Given the description of an element on the screen output the (x, y) to click on. 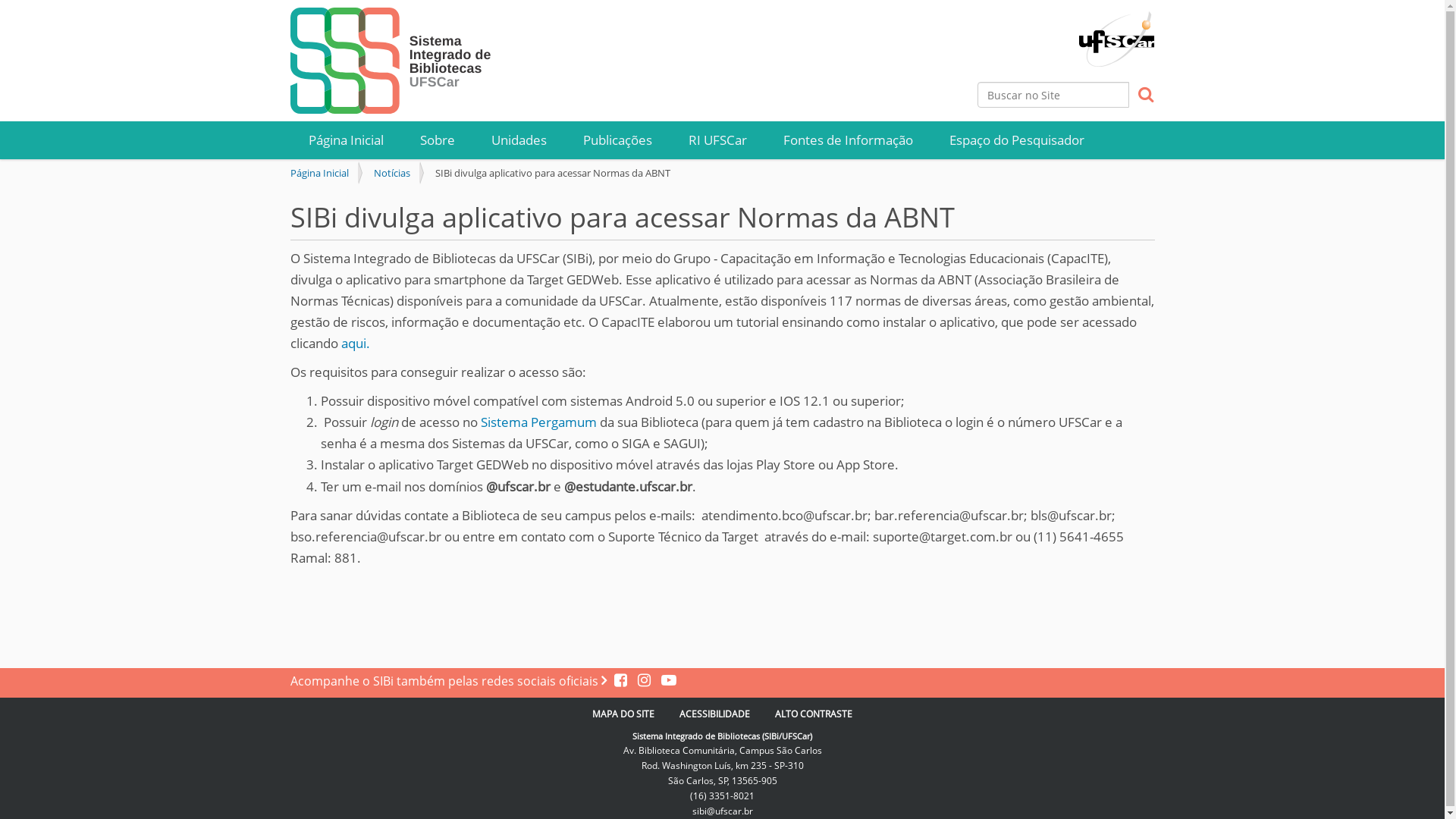
YouTube Element type: hover (664, 680)
sibi@ufscar.br Element type: text (721, 810)
Portal UFSCar Element type: hover (1116, 31)
RI UFSCar Element type: text (717, 140)
ALTO CONTRASTE Element type: text (813, 713)
aqui. Element type: text (355, 342)
Sistema Integrado de Bibliotecas Element type: hover (391, 60)
Buscar no Site Element type: hover (1053, 94)
Instagram Element type: hover (640, 680)
MAPA DO SITE Element type: text (623, 713)
Sobre Element type: text (437, 140)
Unidades Element type: text (518, 140)
Facebook Element type: hover (622, 680)
ACESSIBILIDADE Element type: text (714, 713)
Sistema Pergamum Element type: text (538, 421)
